Given the description of an element on the screen output the (x, y) to click on. 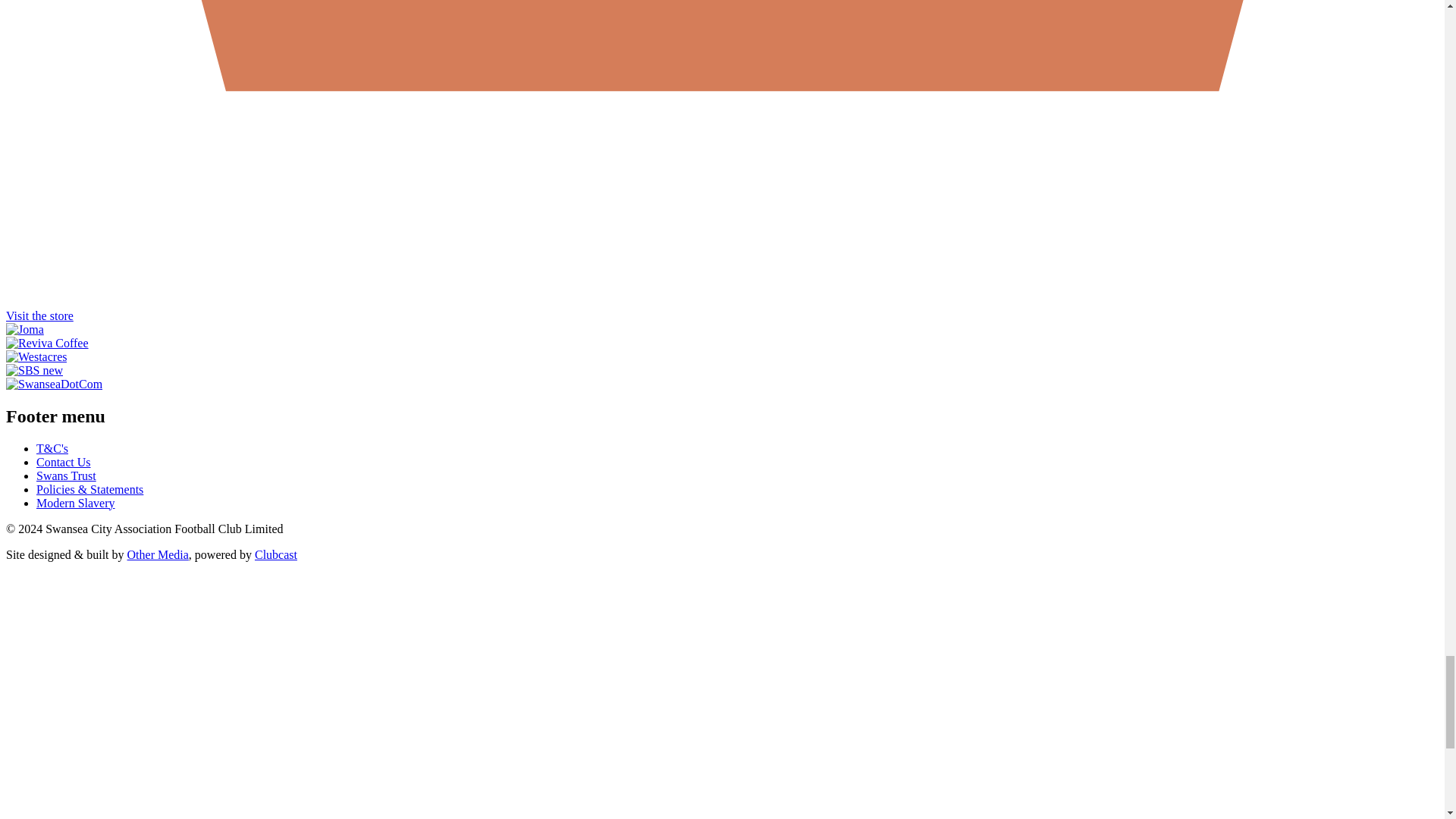
Swansea sponsor (24, 328)
Swansea sponsor (53, 383)
Swansea sponsor (46, 342)
Swansea sponsor (35, 356)
